Given the description of an element on the screen output the (x, y) to click on. 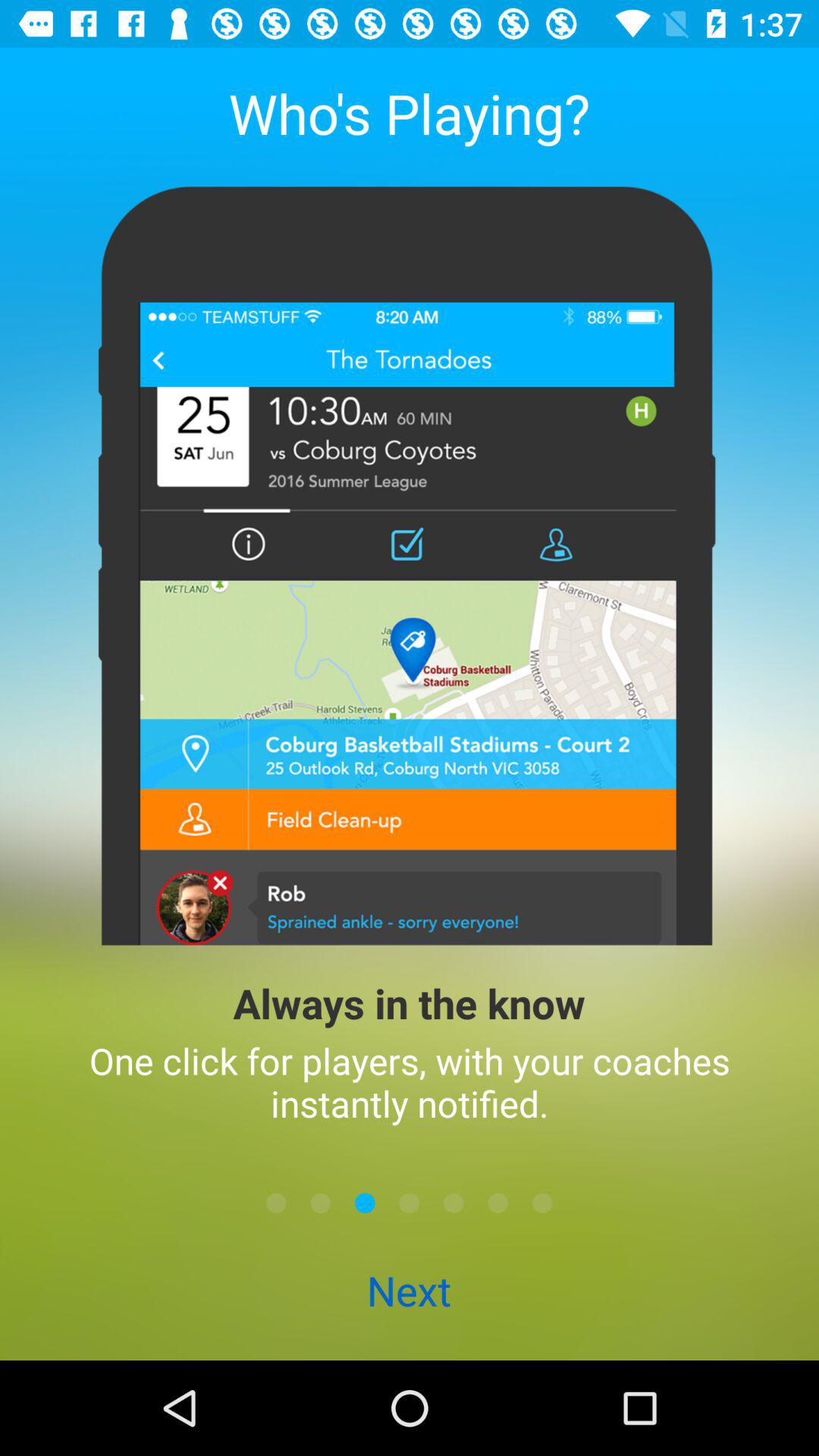
next page (364, 1203)
